Given the description of an element on the screen output the (x, y) to click on. 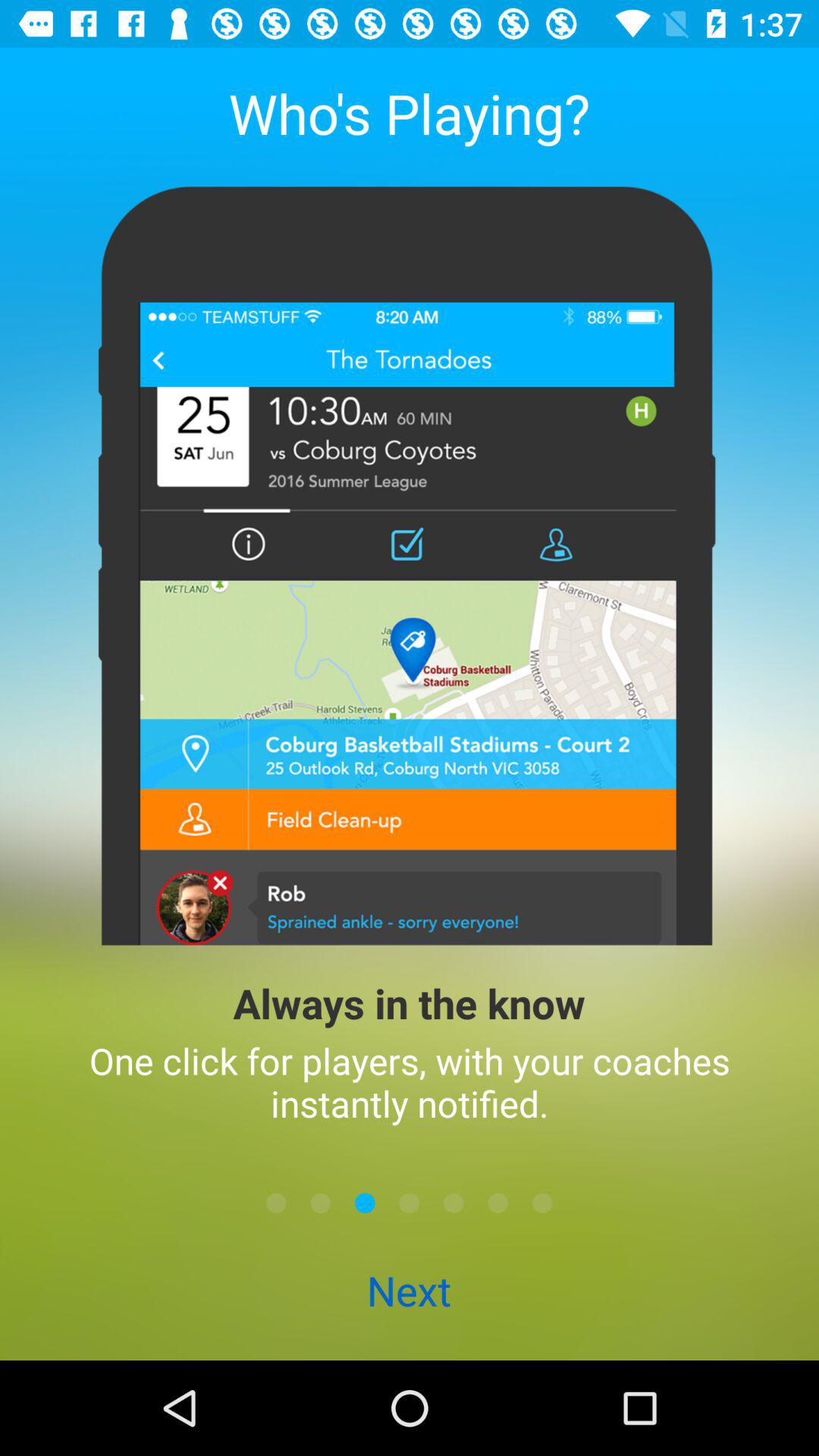
next page (364, 1203)
